Given the description of an element on the screen output the (x, y) to click on. 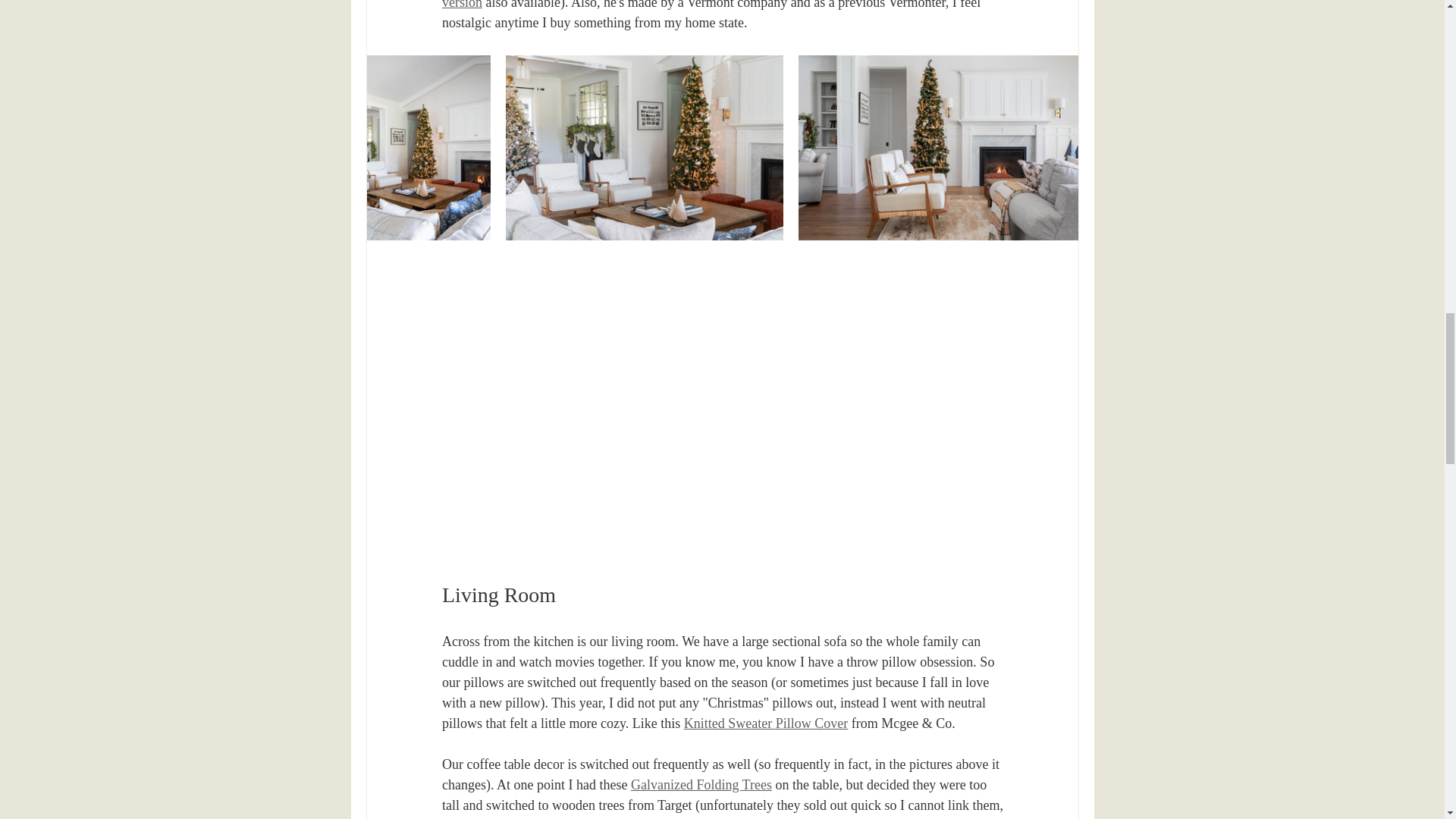
female version (710, 4)
Galvanized Folding Trees (700, 784)
Knitted Sweater Pillow Cover (764, 723)
